Given the description of an element on the screen output the (x, y) to click on. 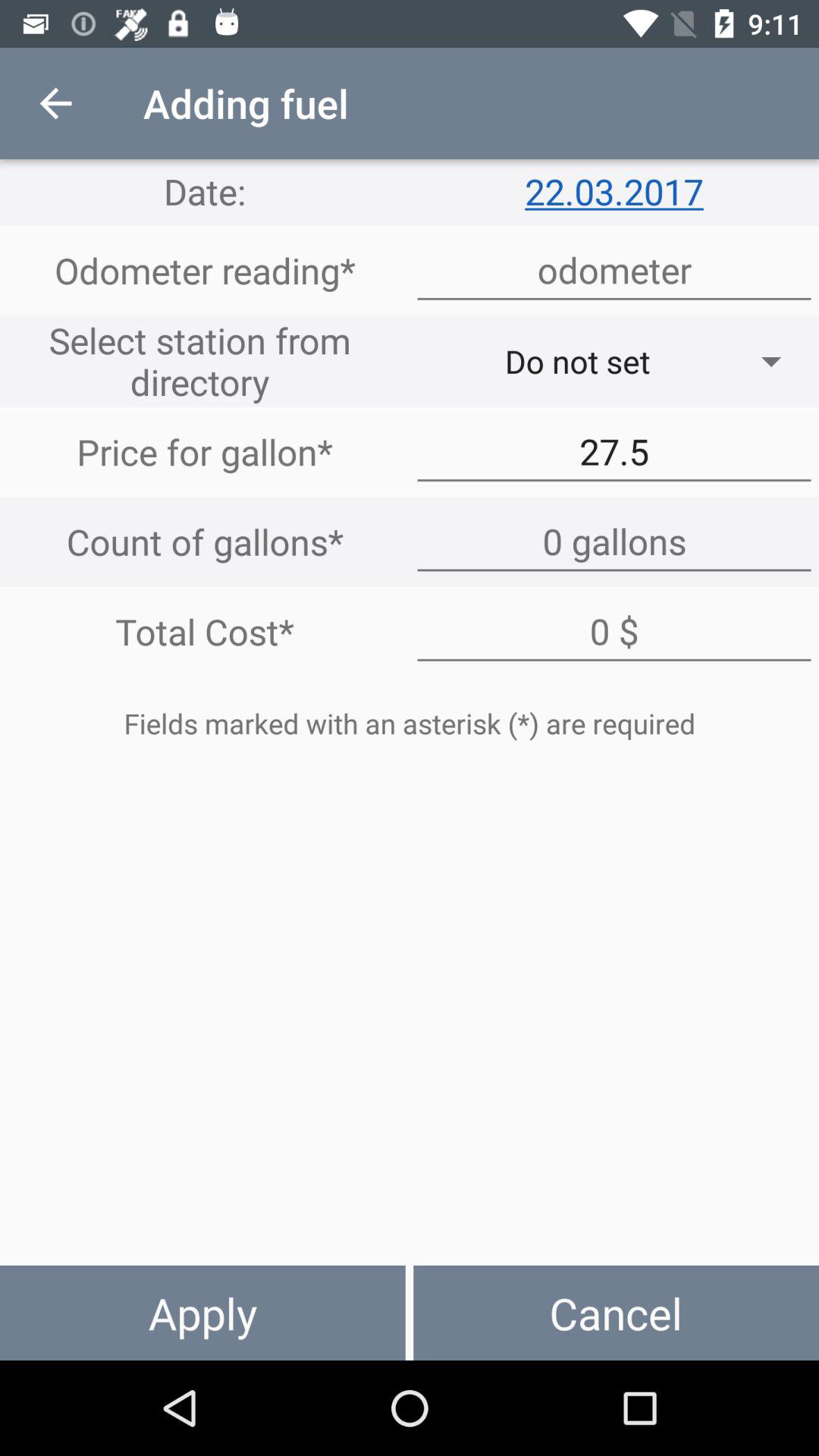
insert gallons (614, 541)
